Given the description of an element on the screen output the (x, y) to click on. 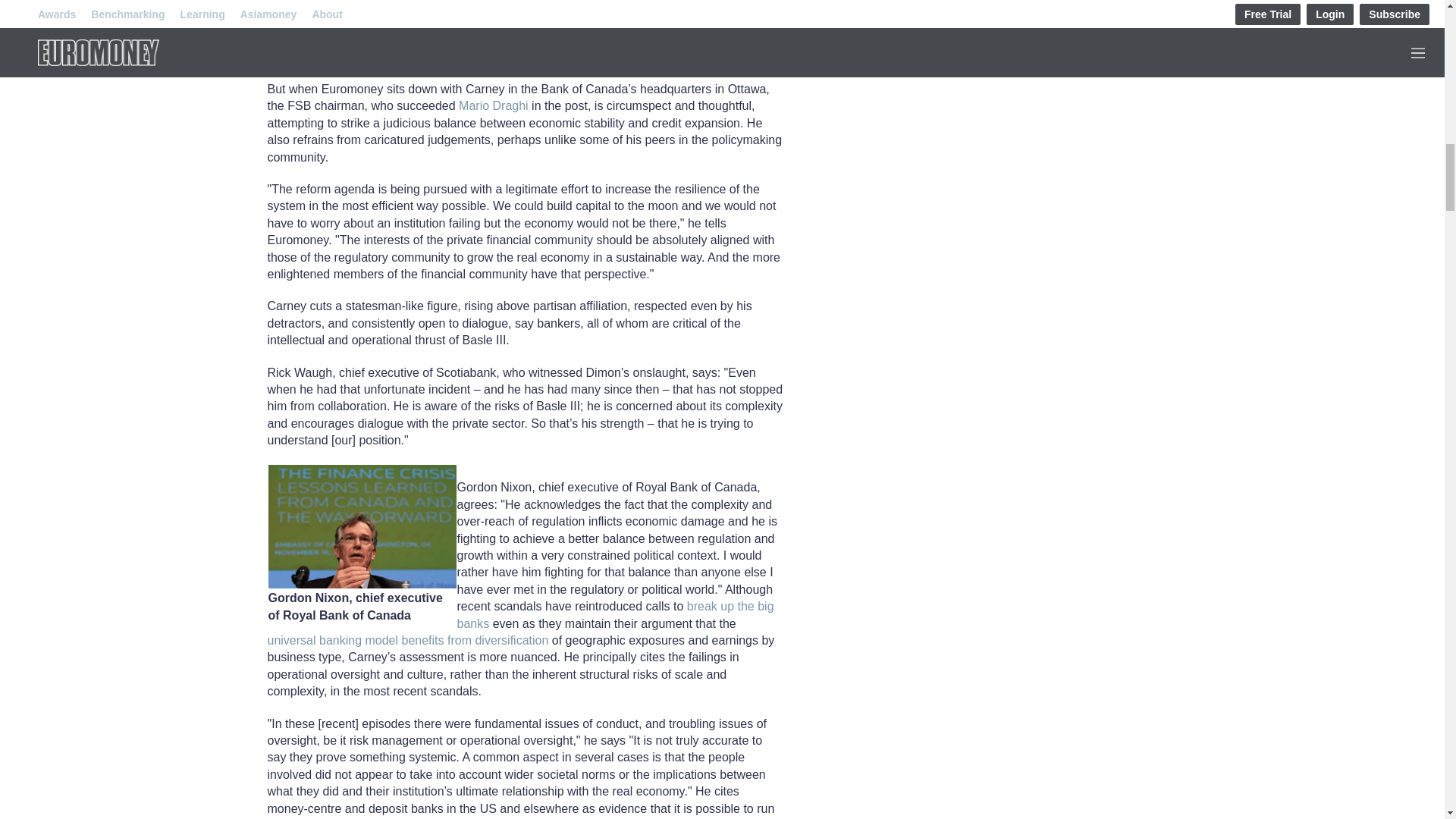
New bank failures revive break-up calls (615, 614)
More on Mario Draghi (493, 105)
